Given the description of an element on the screen output the (x, y) to click on. 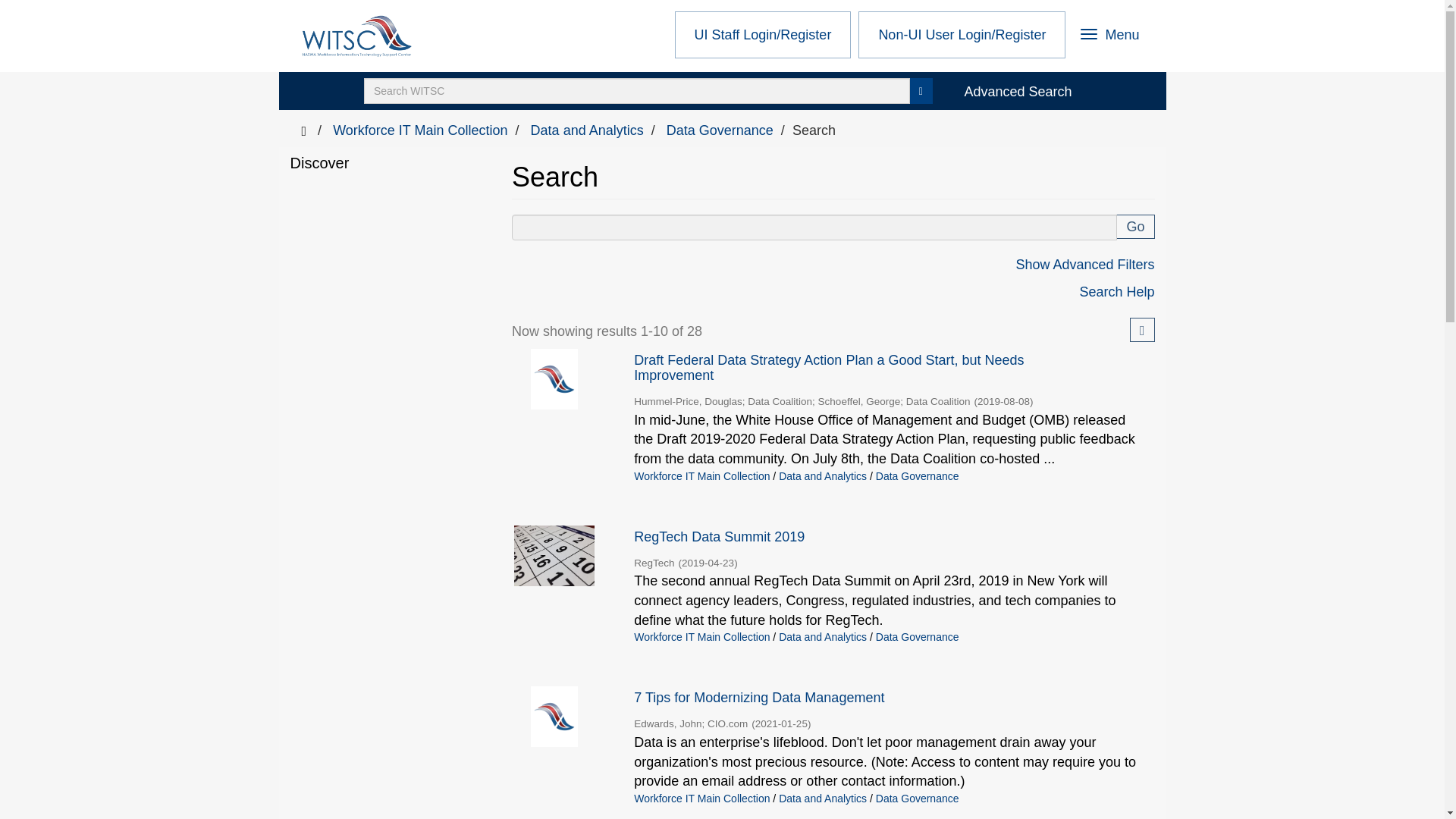
search (637, 90)
form (1135, 226)
form (1109, 35)
Go (814, 227)
